Given the description of an element on the screen output the (x, y) to click on. 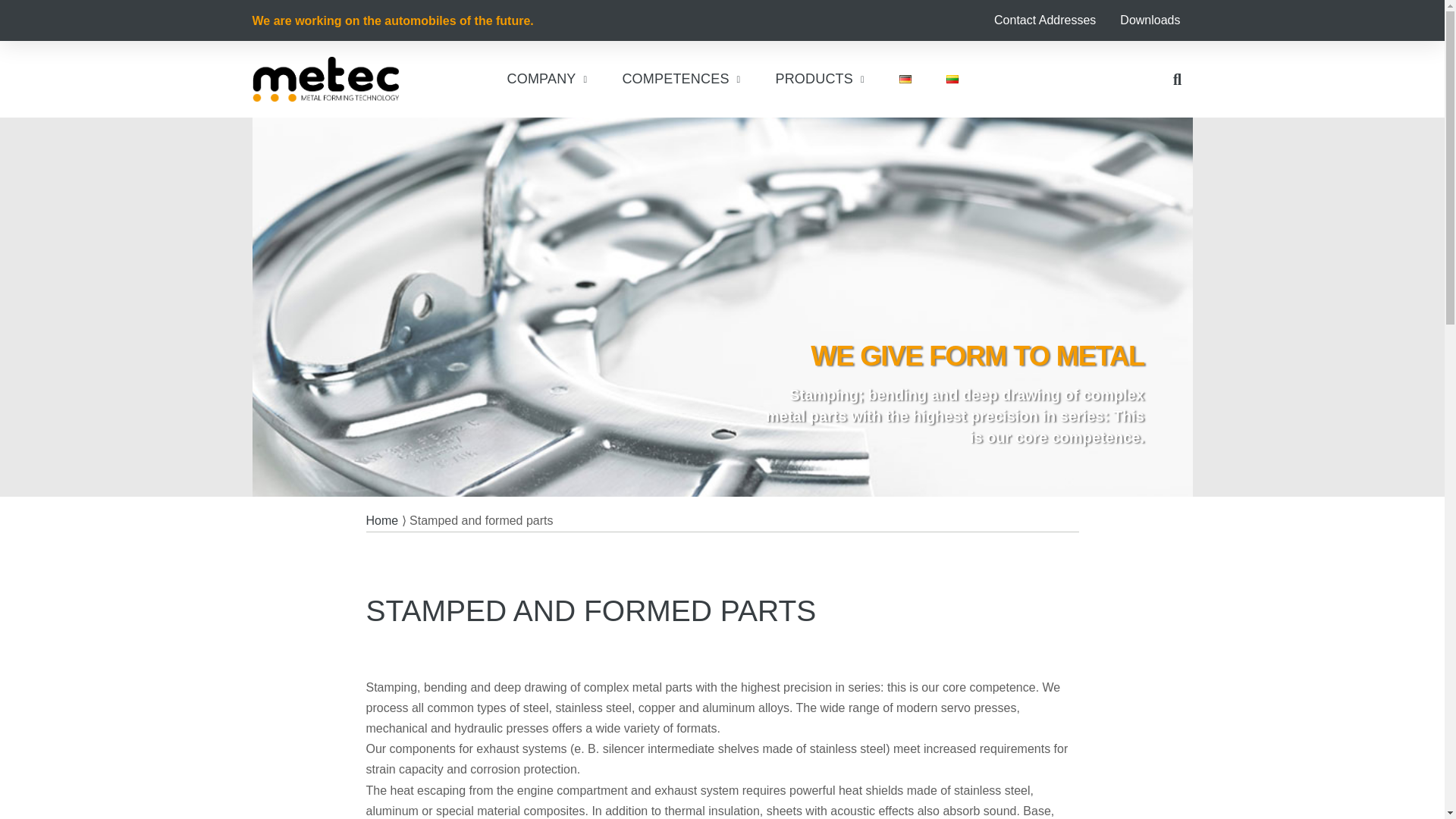
COMPANY (544, 78)
PRODUCTS (817, 78)
COMPETENCES (678, 78)
Contact Addresses (1044, 20)
Downloads (1150, 20)
